Given the description of an element on the screen output the (x, y) to click on. 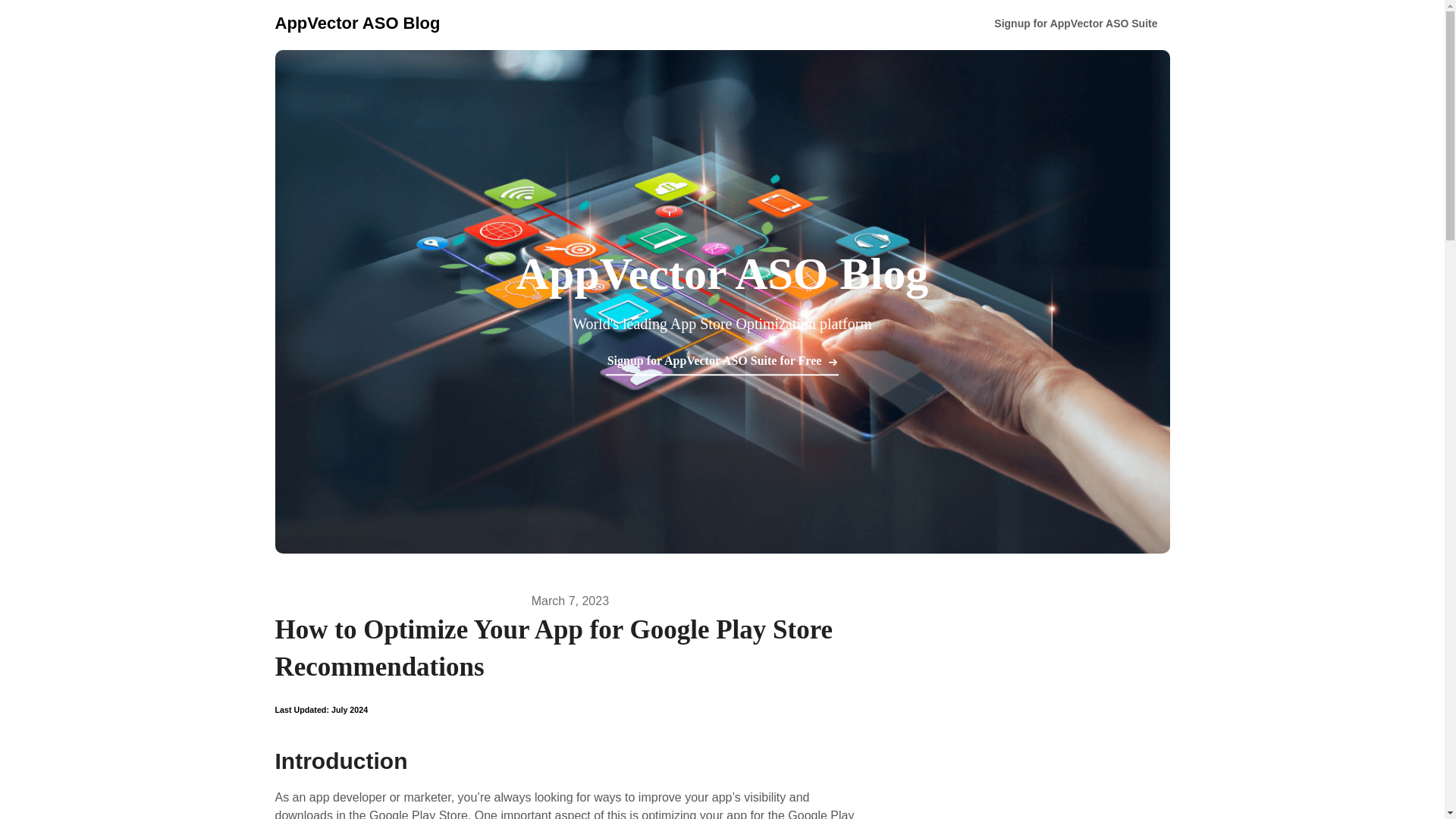
AppVector ASO Blog (357, 22)
March 7, 2023 (569, 600)
Signup for AppVector ASO Suite (1075, 24)
Signup for AppVector ASO Suite for Free (714, 361)
